Given the description of an element on the screen output the (x, y) to click on. 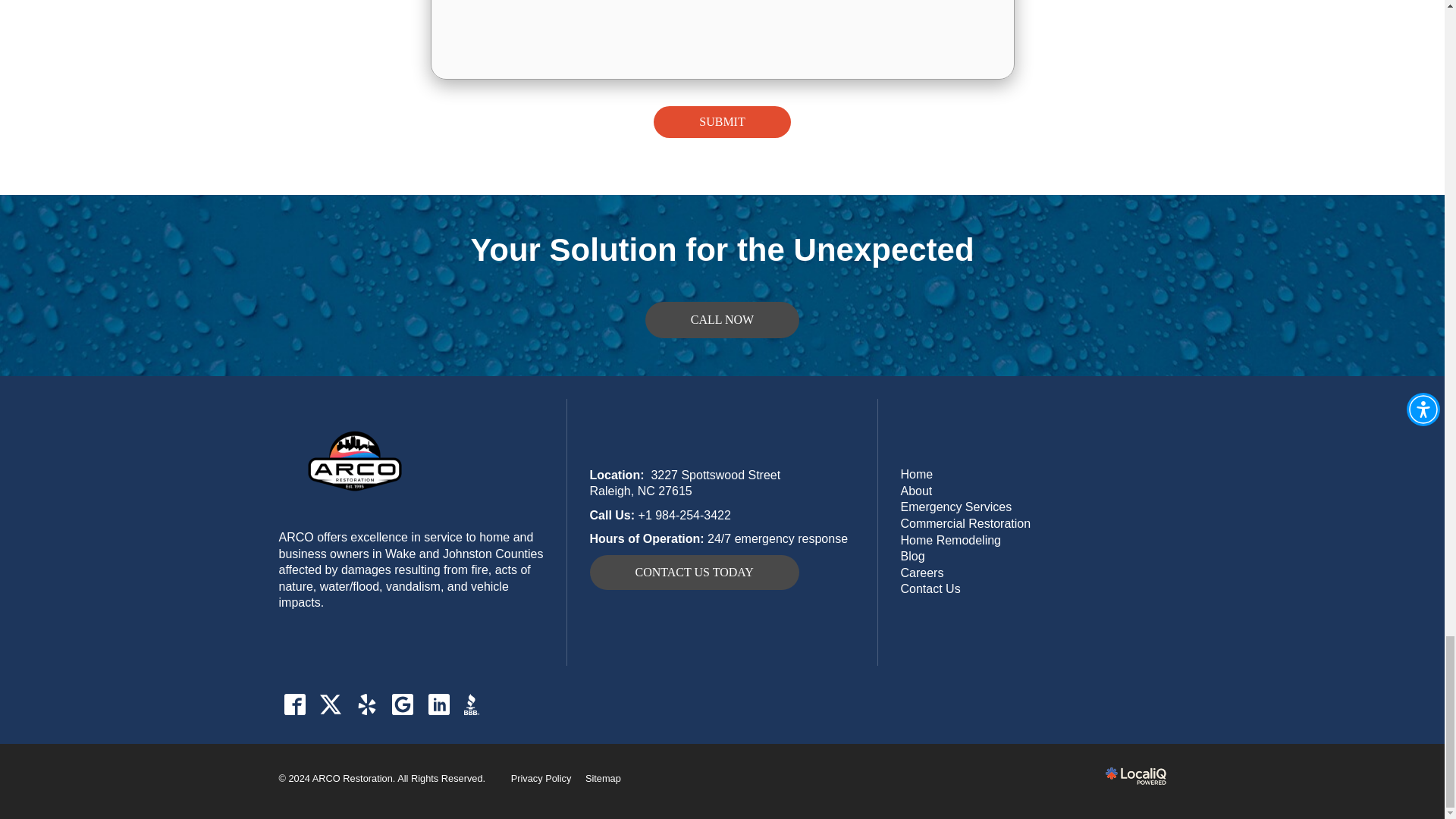
linkedin (438, 704)
google (403, 704)
yelp (366, 704)
Submit (721, 122)
facebook (295, 704)
bbb (475, 704)
twitter (330, 704)
